Given the description of an element on the screen output the (x, y) to click on. 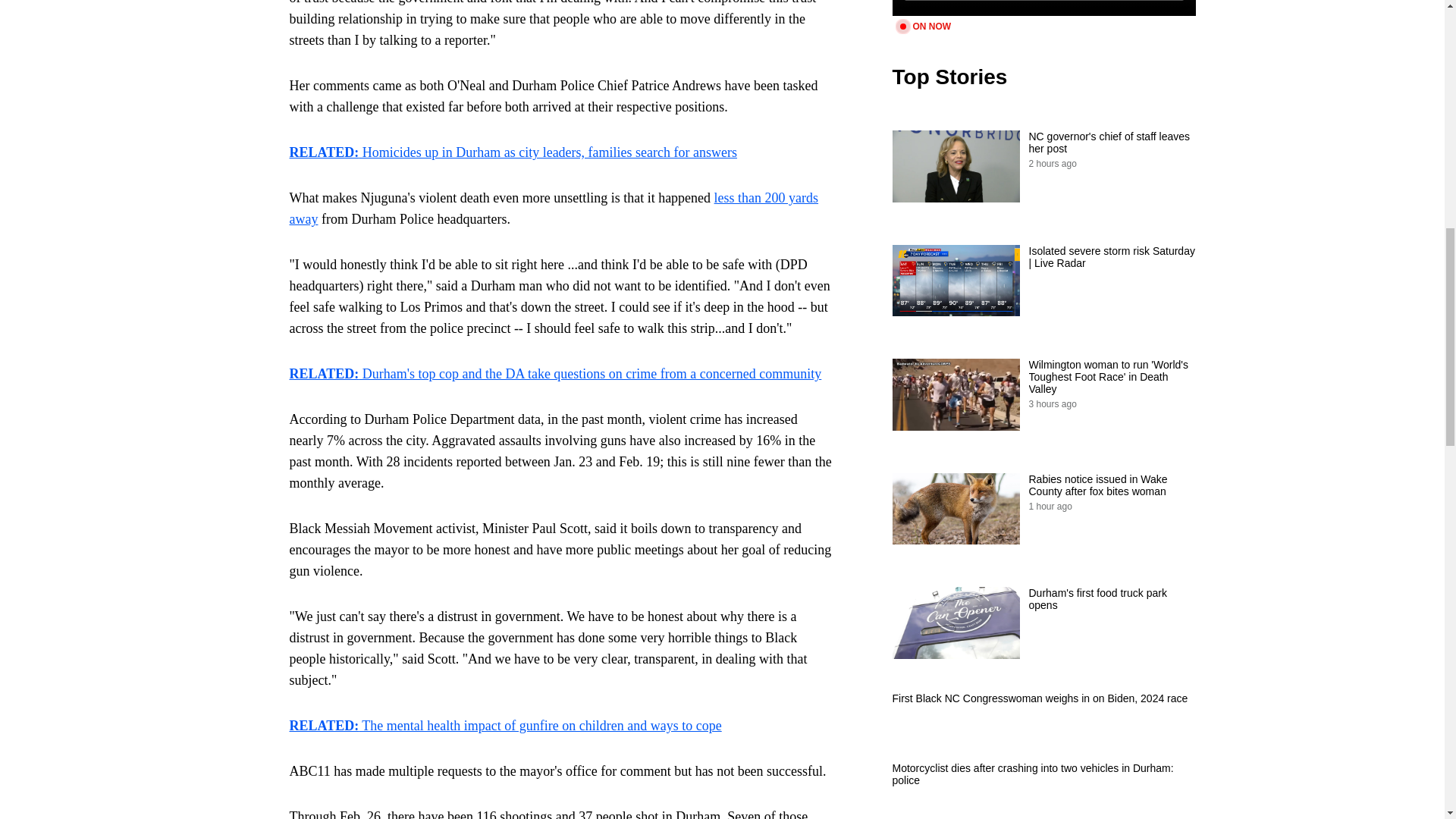
video.title (1043, 7)
